Given the description of an element on the screen output the (x, y) to click on. 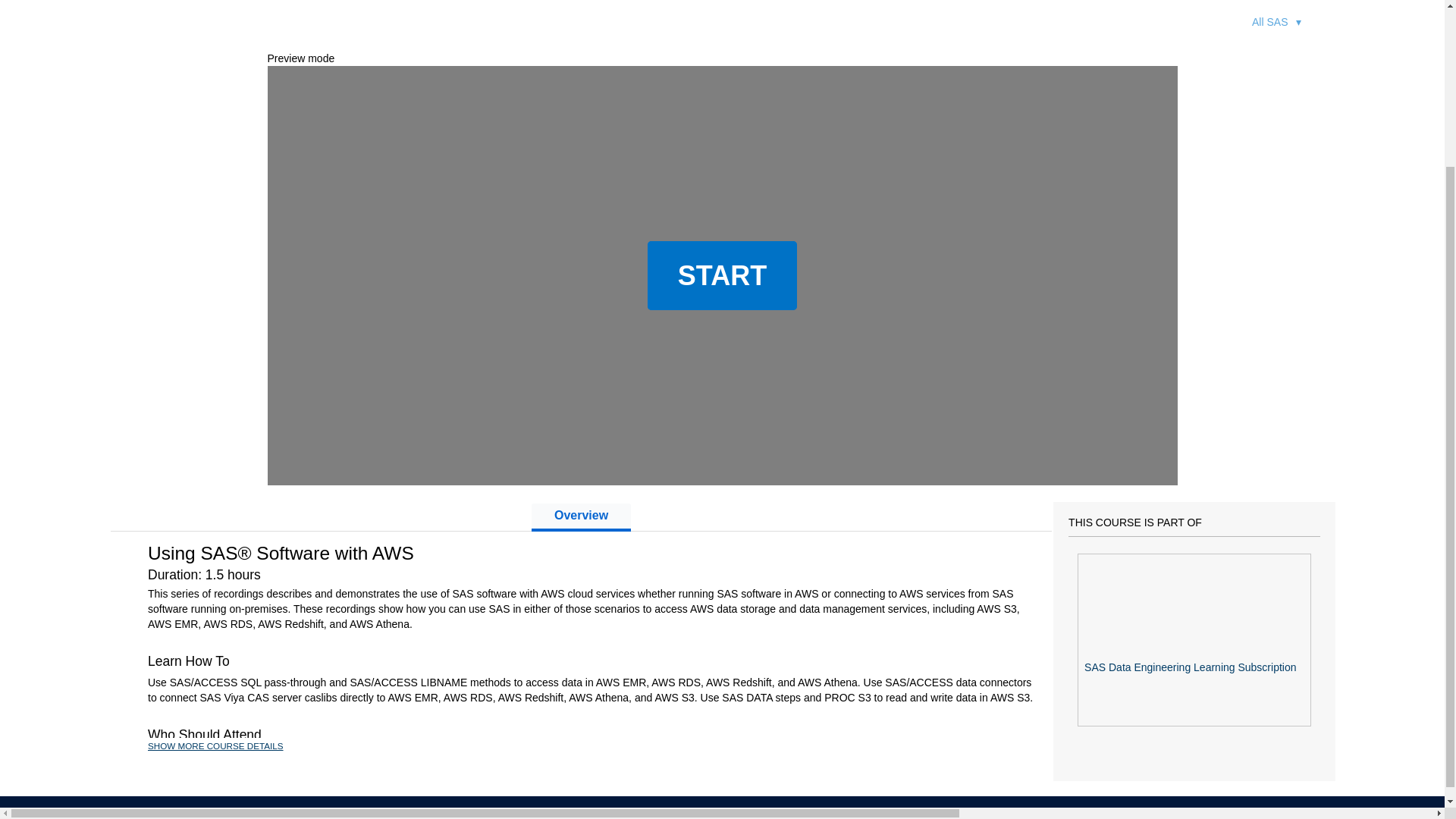
SAS Data Engineering Learning Subscription (1194, 639)
Select version (970, 28)
Select language (782, 28)
